Given the description of an element on the screen output the (x, y) to click on. 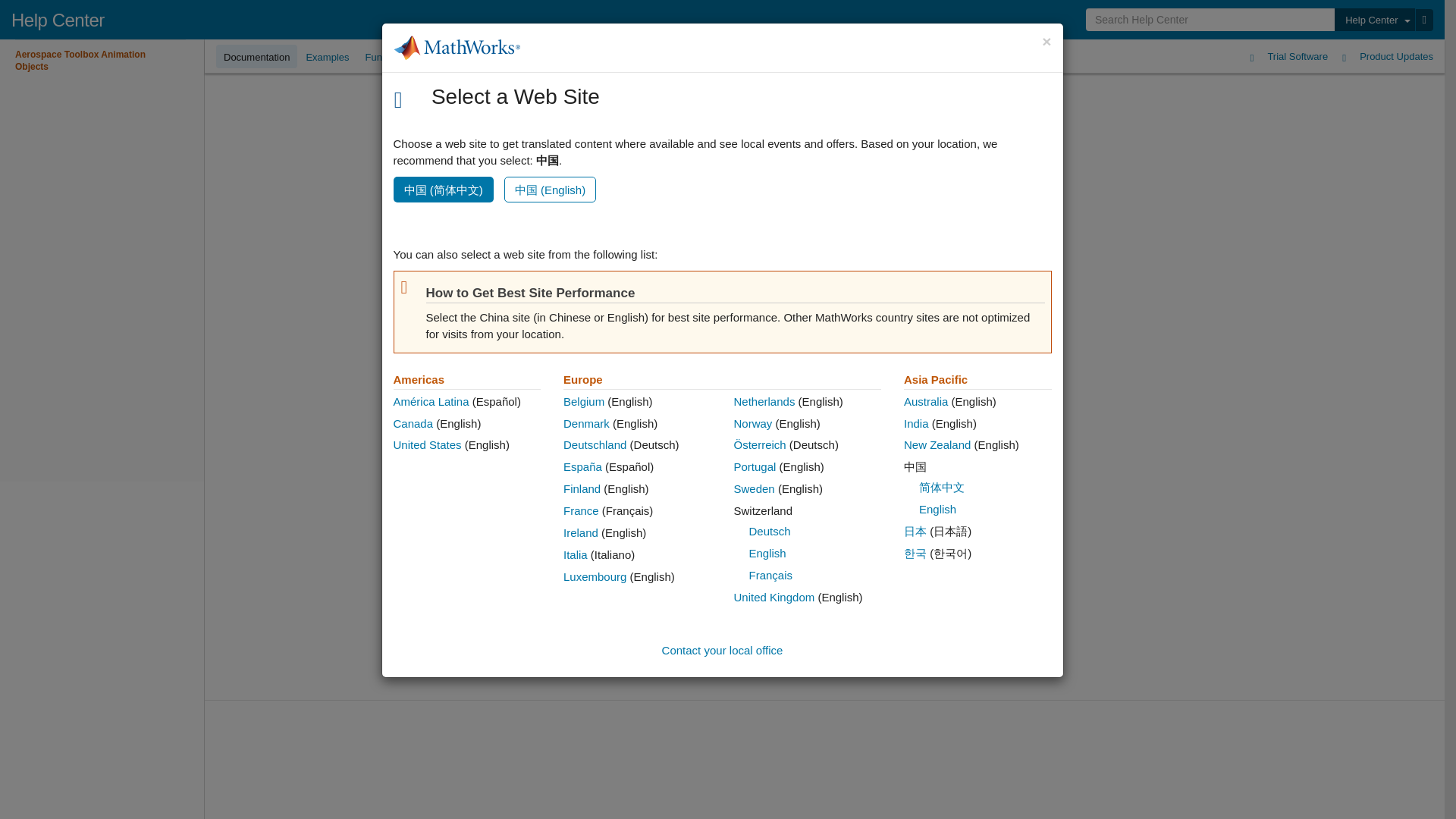
Aerospace Toolbox Animation Objects (100, 61)
Aerospace Toolbox Animation Objects (100, 60)
